Given the description of an element on the screen output the (x, y) to click on. 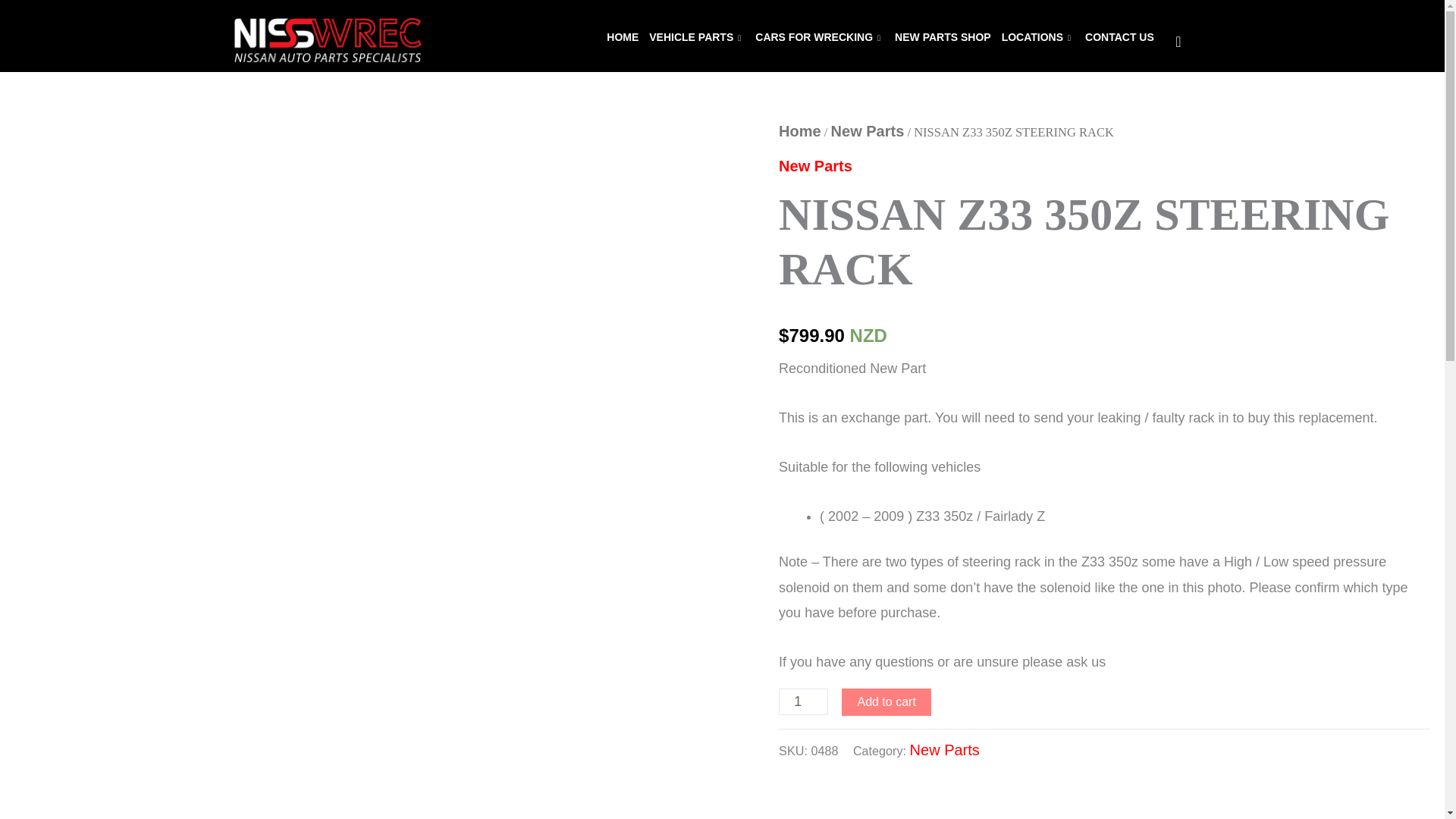
HOME (622, 37)
1 (803, 701)
VEHICLE PARTS (696, 37)
